Given the description of an element on the screen output the (x, y) to click on. 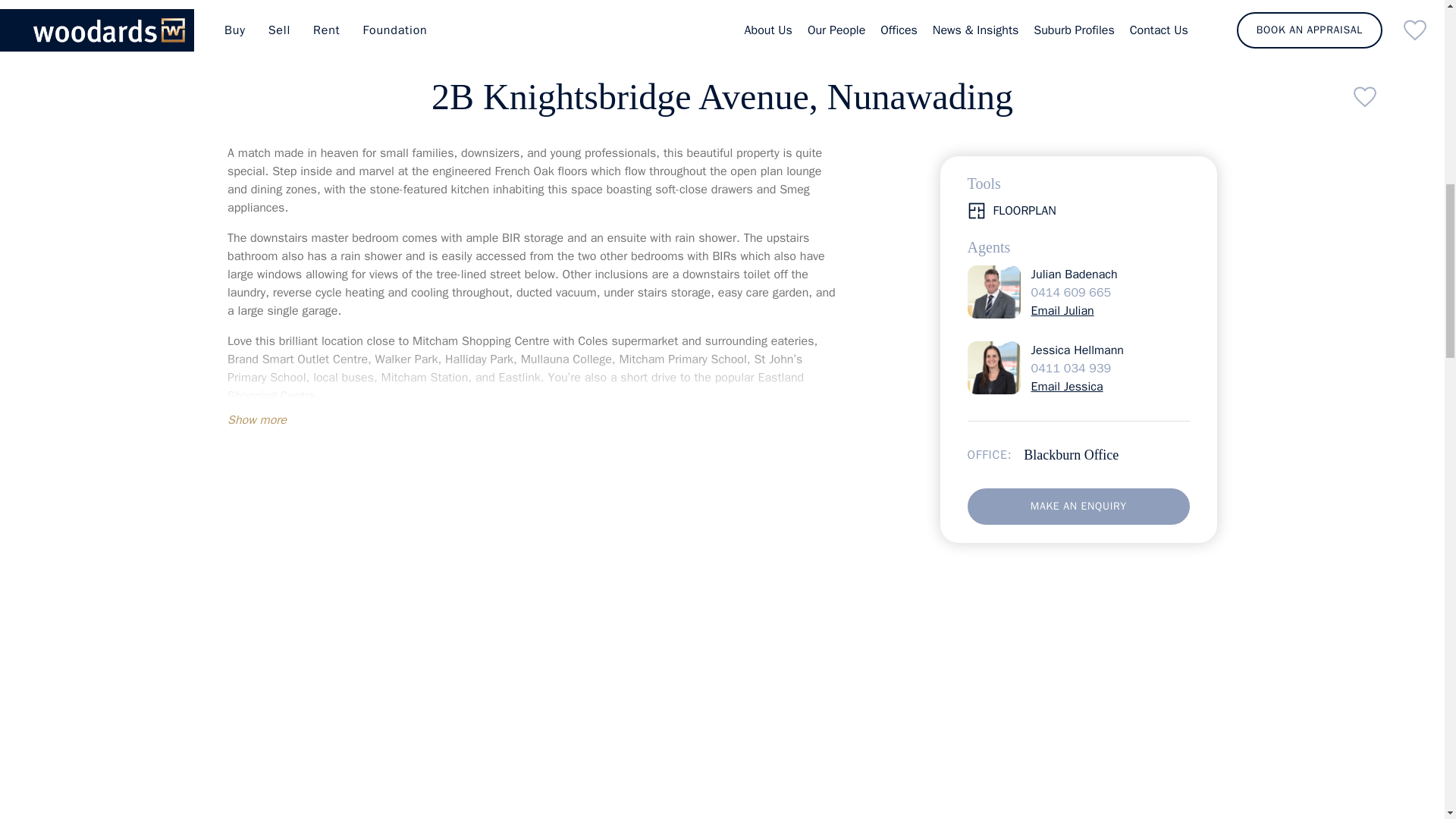
Email Julian (1062, 196)
FLOORPLAN (1078, 96)
0411 034 939 (1071, 254)
Email Jessica (1066, 272)
0414 609 665 (1071, 178)
